Given the description of an element on the screen output the (x, y) to click on. 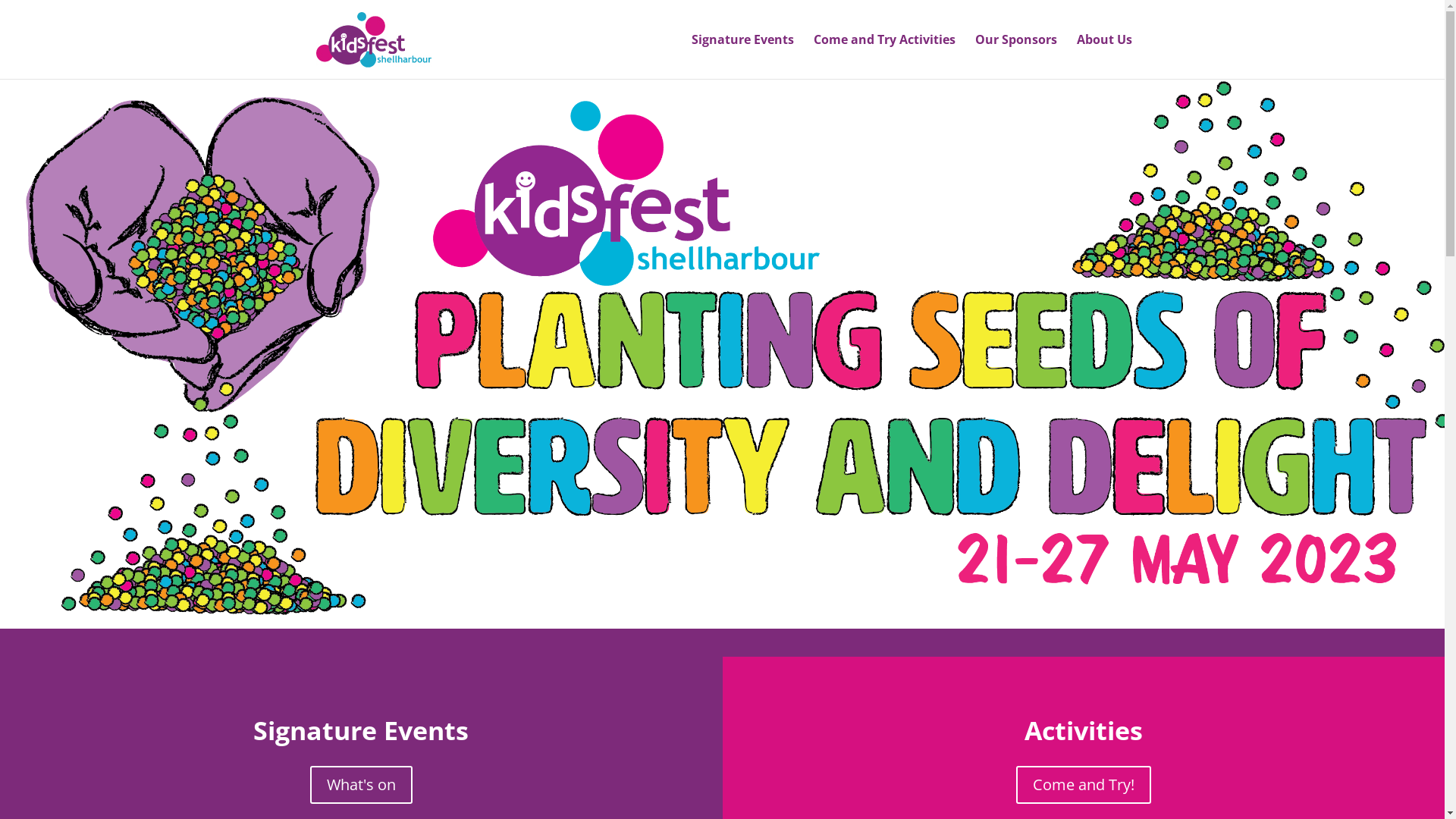
Our Sponsors Element type: text (1016, 56)
2 Element type: text (721, 625)
Come and Try! Element type: text (1083, 784)
About Us Element type: text (1104, 56)
1 Element type: text (709, 625)
Come and Try Activities Element type: text (883, 56)
Signature Events Element type: text (742, 56)
3 Element type: text (734, 625)
What's on Element type: text (361, 784)
